Given the description of an element on the screen output the (x, y) to click on. 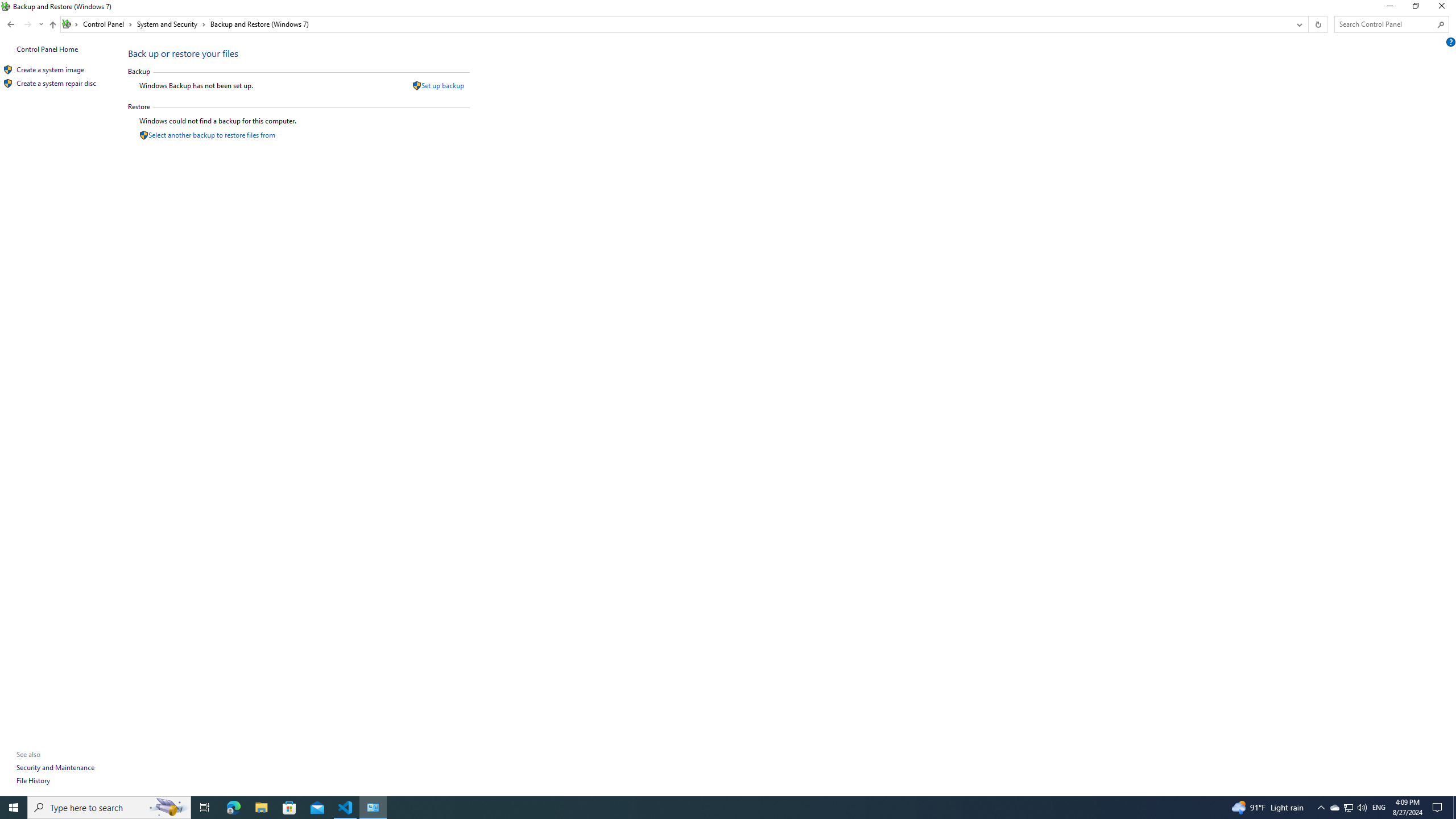
File Explorer (261, 807)
Refresh "Backup and Restore (Windows 7)" (F5) (1316, 23)
File History (33, 780)
Up band toolbar (1347, 807)
Previous Locations (52, 26)
